Given the description of an element on the screen output the (x, y) to click on. 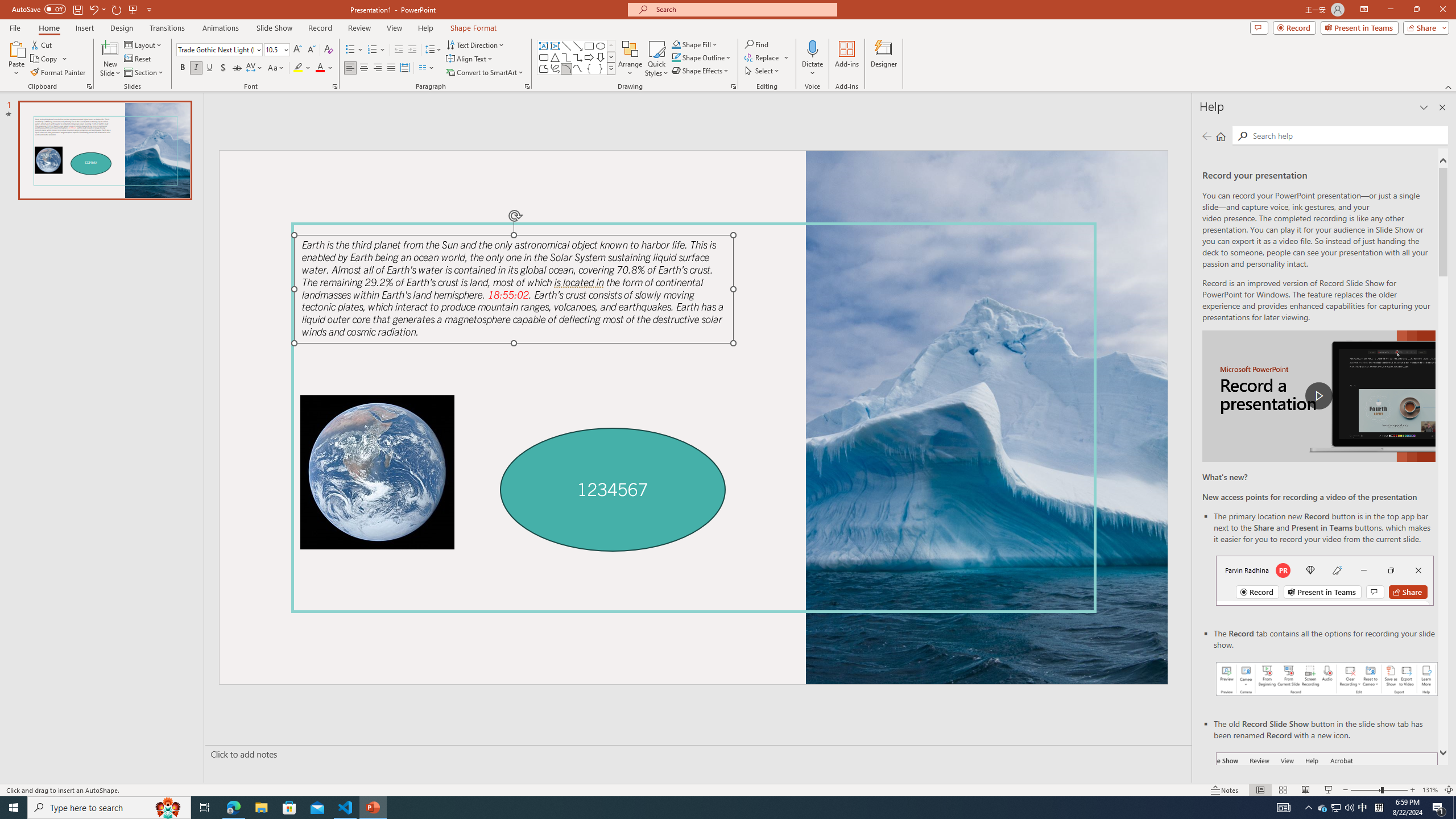
play Record a Presentation (1318, 395)
Record your presentations screenshot one (1326, 678)
